Given the description of an element on the screen output the (x, y) to click on. 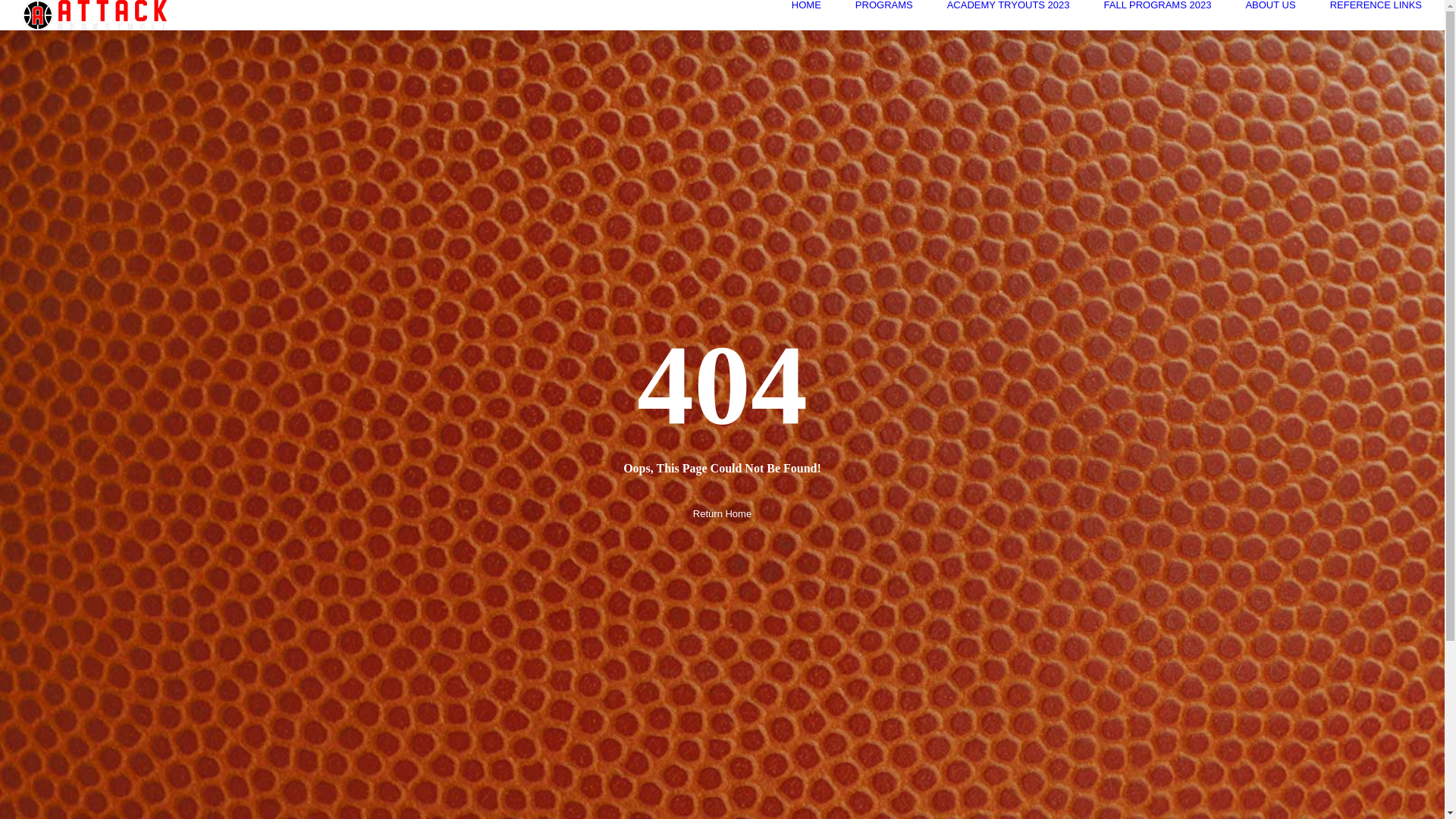
ACADEMY TRYOUTS 2023 Element type: text (1008, 4)
REFERENCE LINKS Element type: text (1375, 4)
HOME Element type: text (806, 4)
ABOUT US Element type: text (1270, 4)
Return Home Element type: text (722, 512)
PROGRAMS Element type: text (884, 4)
FALL PROGRAMS 2023 Element type: text (1157, 4)
